Given the description of an element on the screen output the (x, y) to click on. 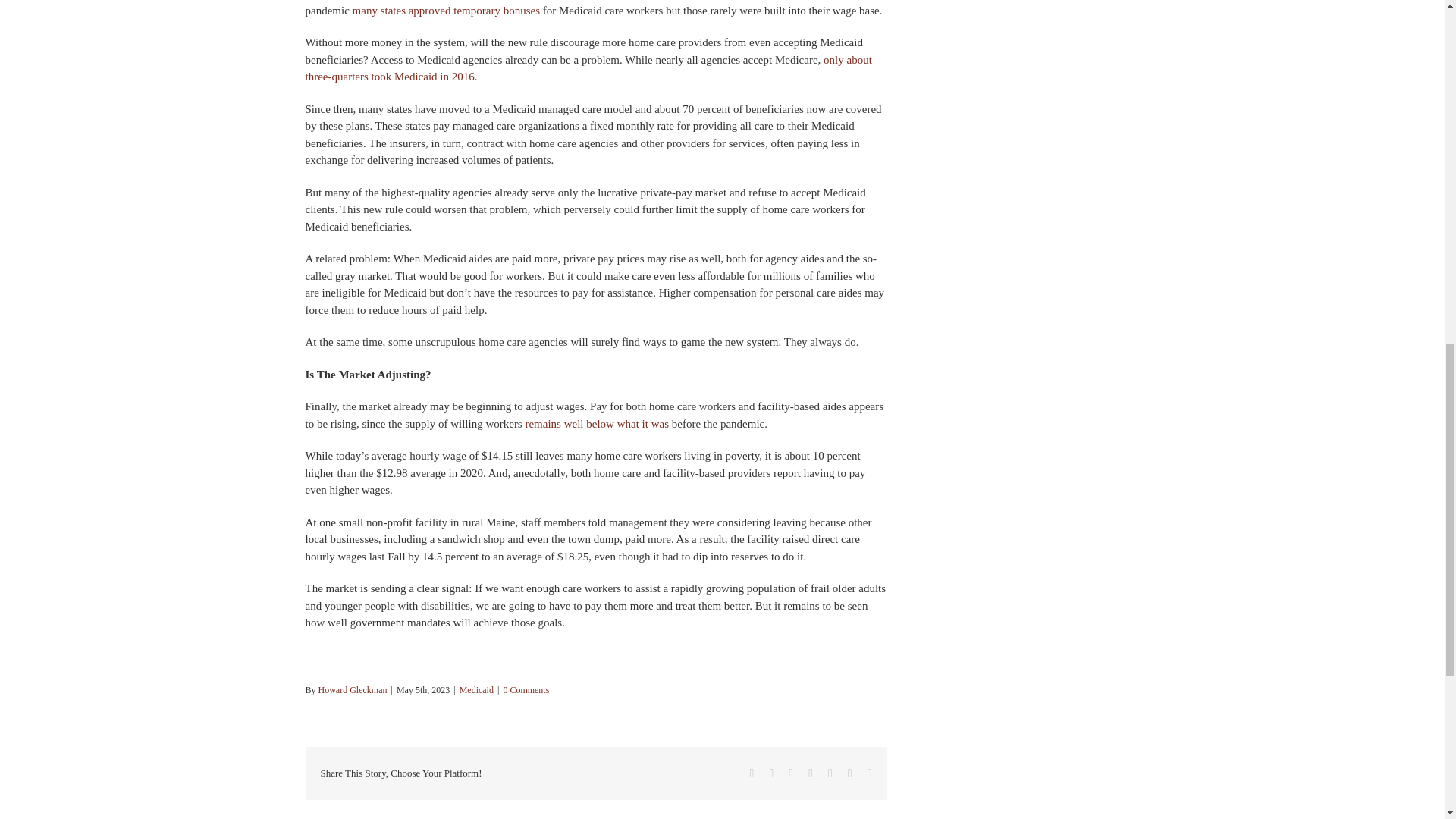
Posts by Howard Gleckman (352, 689)
